Given the description of an element on the screen output the (x, y) to click on. 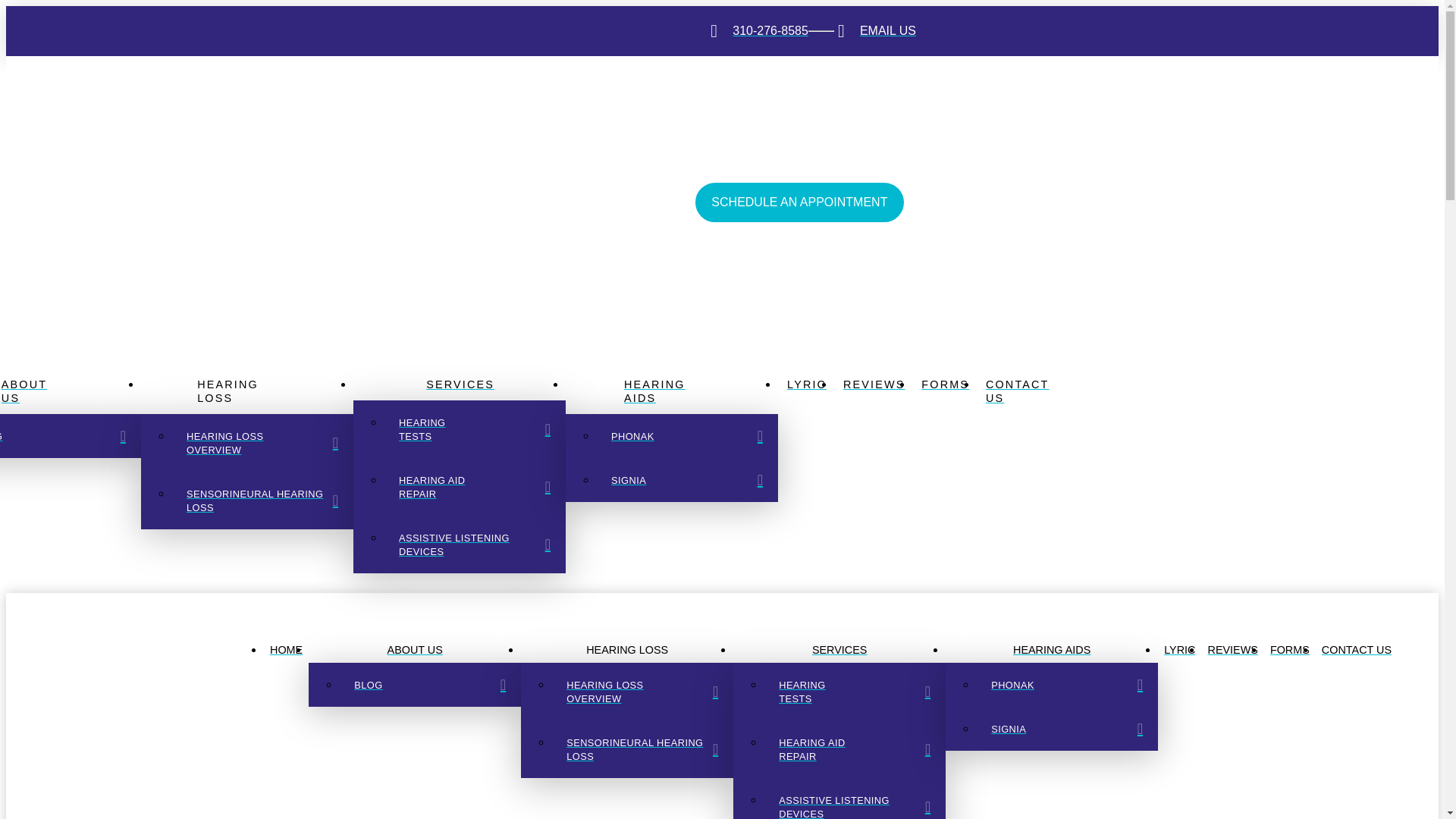
BLOG (430, 684)
REVIEWS (1232, 649)
REVIEWS (873, 384)
FORMS (1289, 649)
310-276-8585 (757, 31)
SCHEDULE AN APPOINTMENT (799, 201)
SERVICES (838, 649)
SIGNIA (686, 479)
SENSORINEURAL HEARING LOSS (642, 749)
CONTACT US (1356, 649)
